Given the description of an element on the screen output the (x, y) to click on. 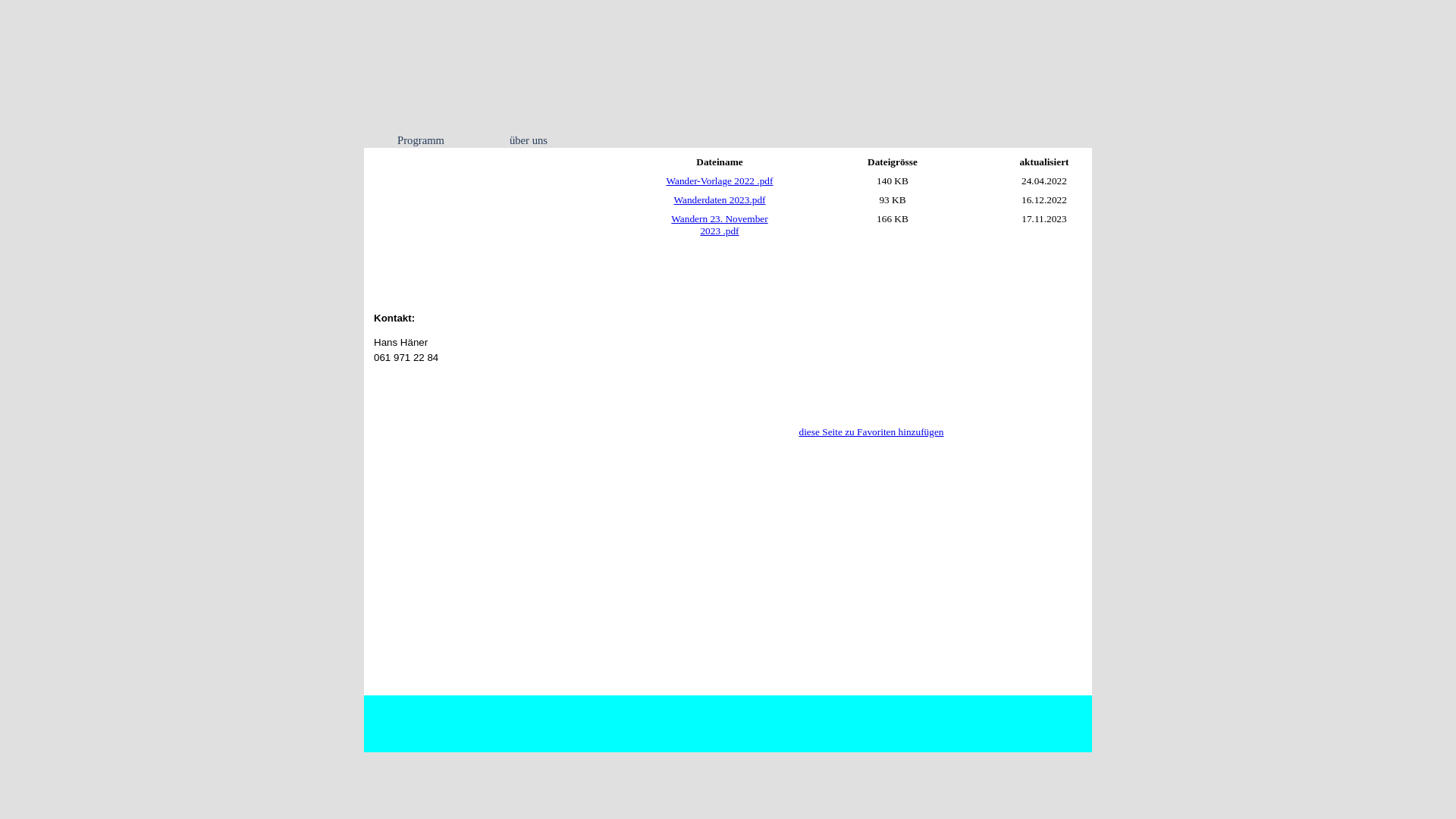
Wanderdaten 2023.pdf Element type: text (719, 199)
Wander-Vorlage 2022 .pdf Element type: text (719, 180)
Programm Element type: text (420, 139)
Wandern 23. November 2023 .pdf Element type: text (719, 224)
